Given the description of an element on the screen output the (x, y) to click on. 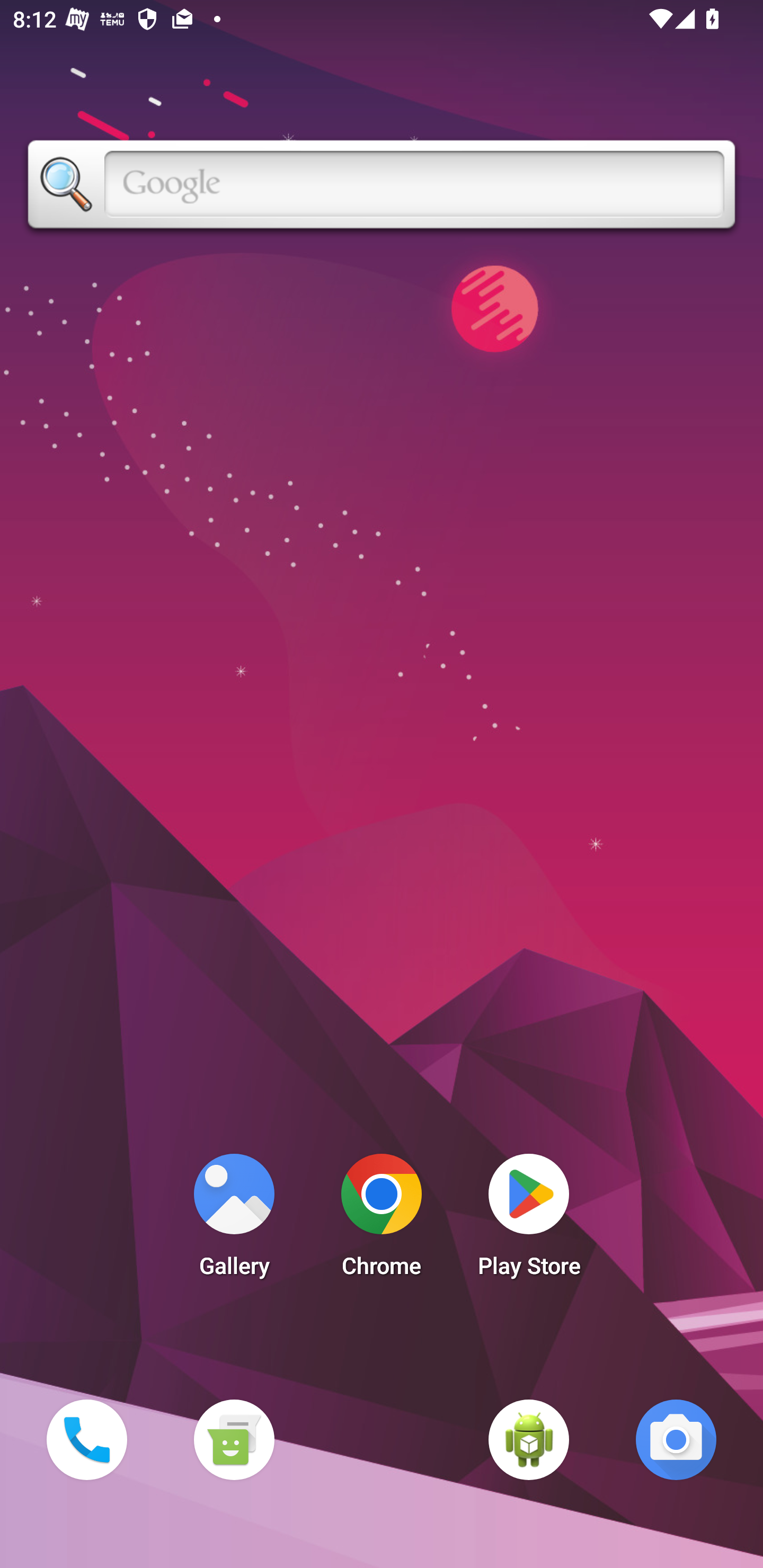
Gallery (233, 1220)
Chrome (381, 1220)
Play Store (528, 1220)
Phone (86, 1439)
Messaging (233, 1439)
WebView Browser Tester (528, 1439)
Camera (676, 1439)
